Given the description of an element on the screen output the (x, y) to click on. 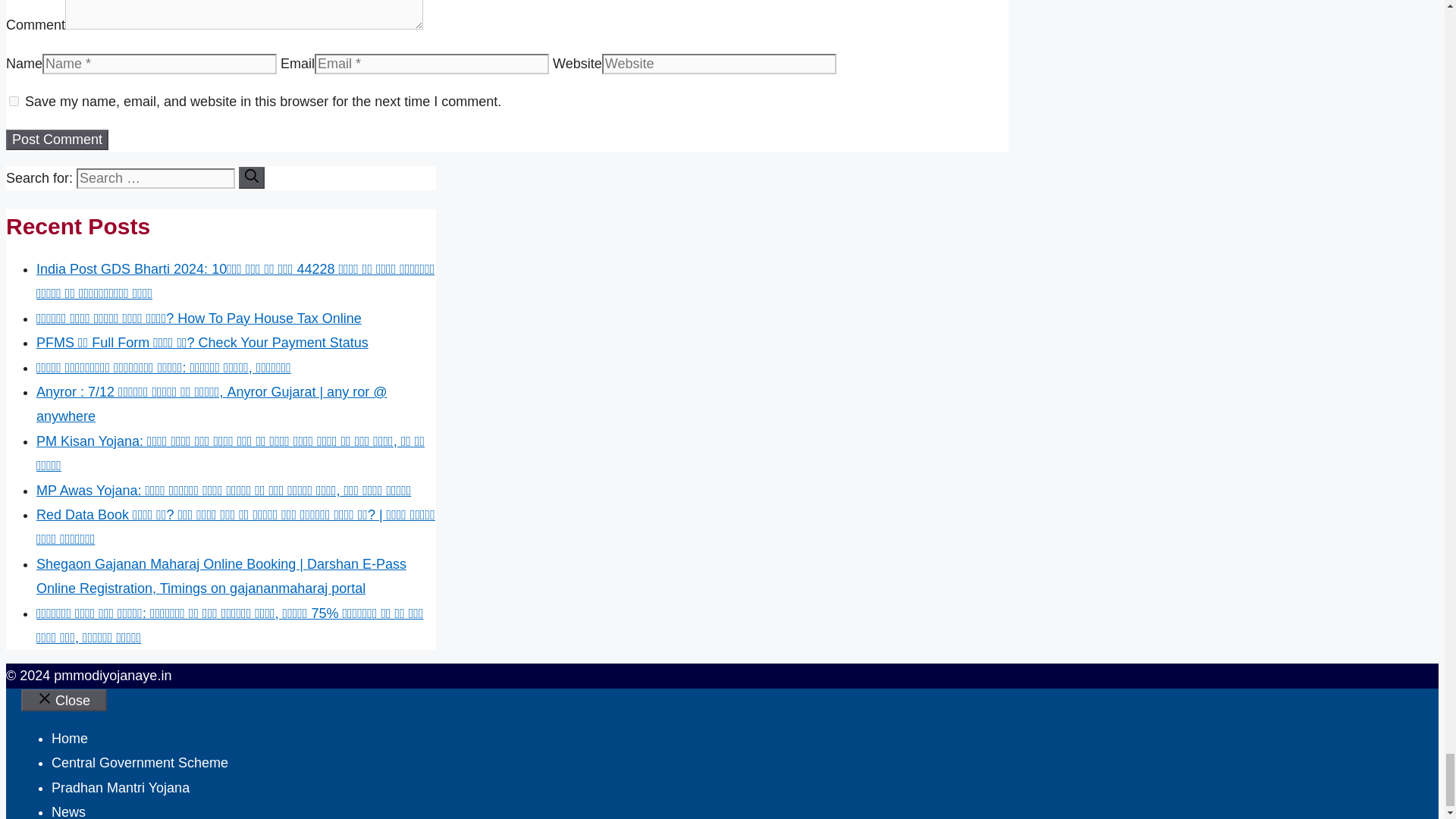
yes (13, 101)
Post Comment (56, 139)
